Given the description of an element on the screen output the (x, y) to click on. 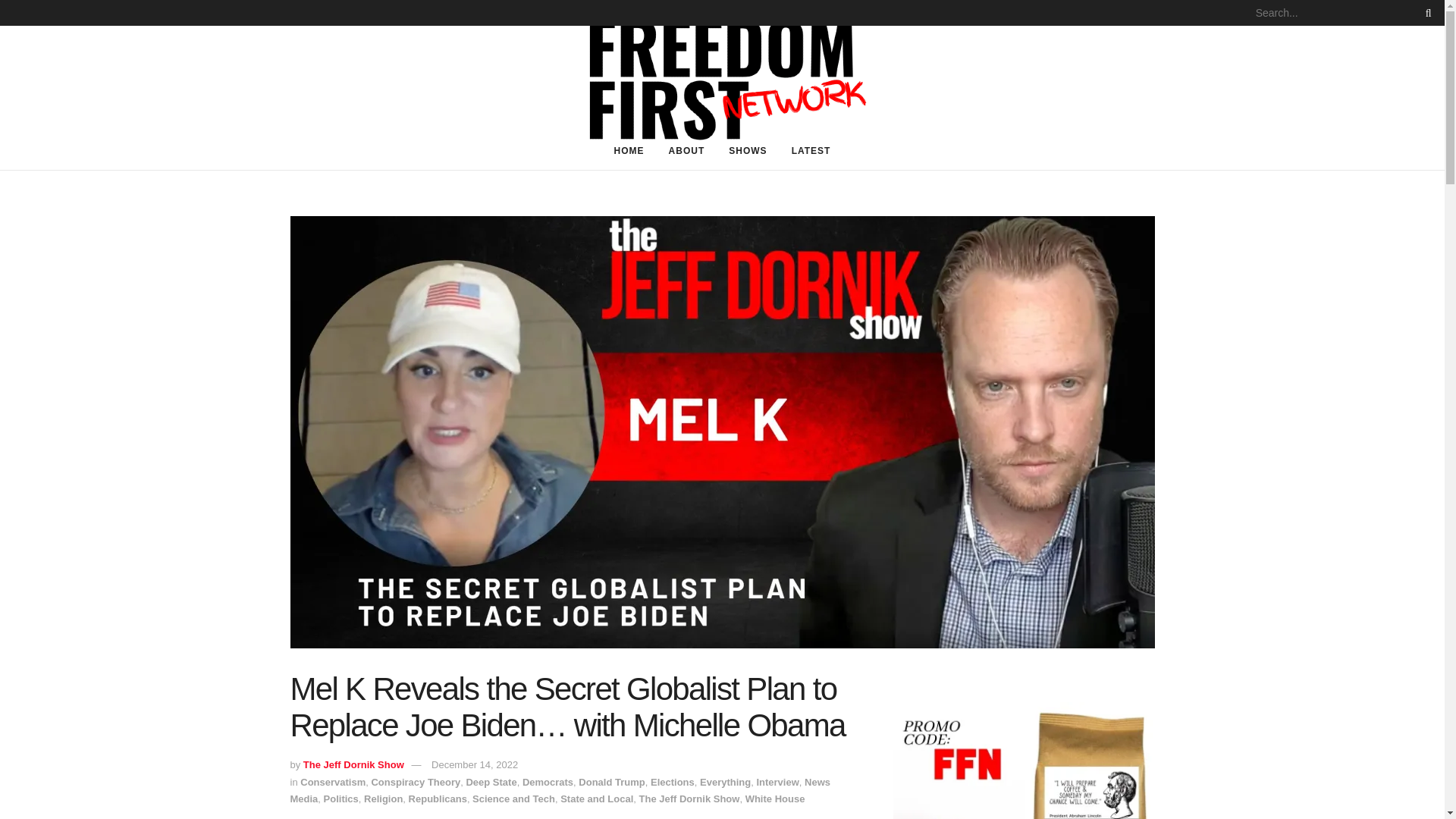
ABOUT (686, 150)
Democrats (547, 781)
Religion (383, 798)
Elections (672, 781)
Everything (725, 781)
Conservatism (332, 781)
White House (775, 798)
State and Local (596, 798)
The Jeff Dornik Show (353, 764)
Deep State (490, 781)
The Jeff Dornik Show (689, 798)
Politics (340, 798)
Conspiracy Theory (415, 781)
Science and Tech (512, 798)
LATEST (810, 150)
